Given the description of an element on the screen output the (x, y) to click on. 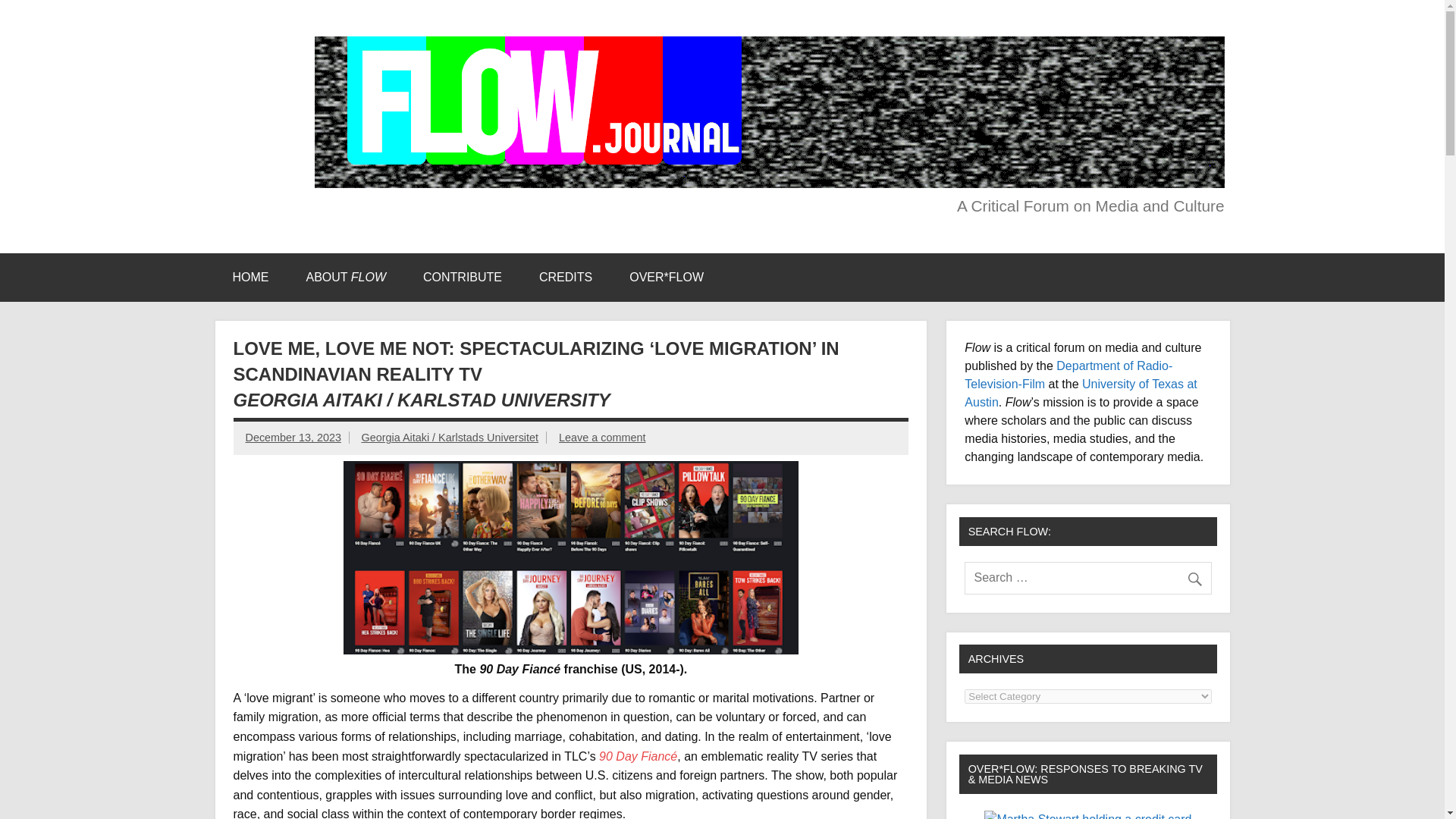
ABOUT FLOW (346, 277)
CONTRIBUTE (461, 277)
Flow (253, 51)
CREDITS (565, 277)
December 13, 2023 (293, 437)
Leave a comment (602, 437)
3:00 pm (293, 437)
Department of Radio-Television-Film (1067, 374)
HOME (250, 277)
University of Texas at Austin (1079, 392)
